Given the description of an element on the screen output the (x, y) to click on. 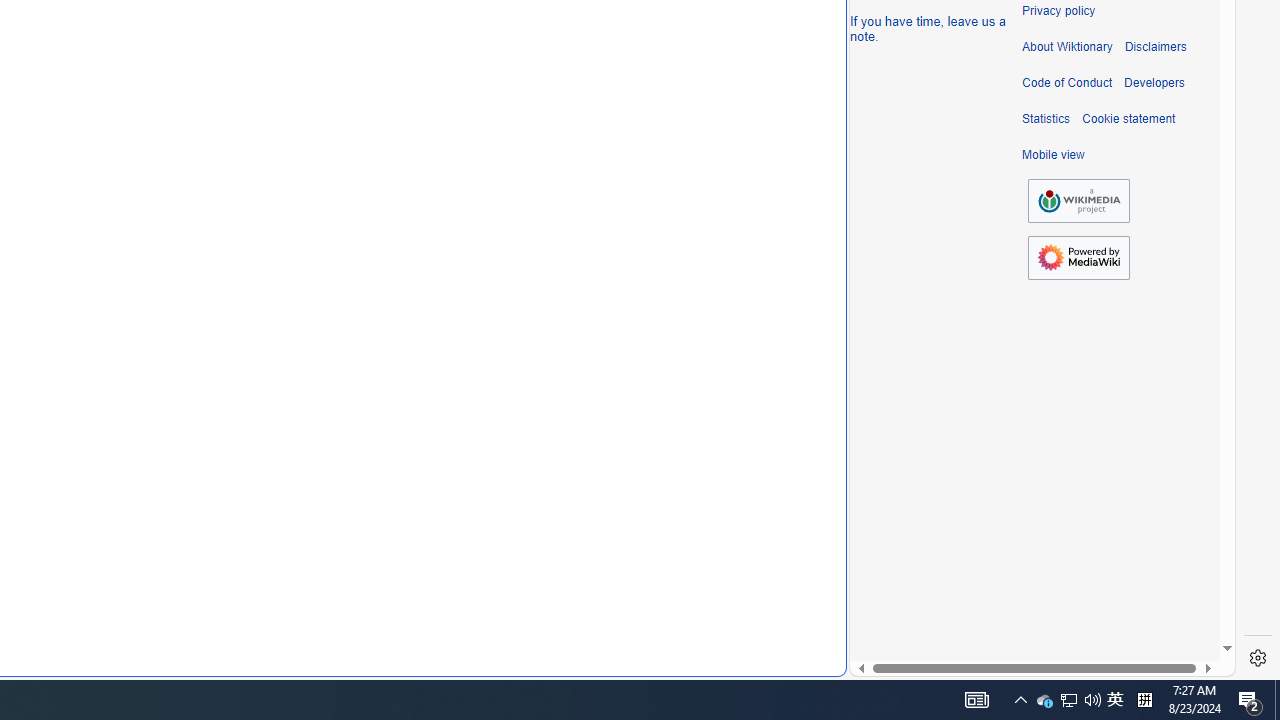
Code of Conduct (1067, 83)
Developers (1154, 83)
Powered by MediaWiki (1078, 257)
Disclaimers (1154, 47)
Cookie statement (1128, 119)
Disclaimers (1154, 47)
Wikimedia Foundation (1078, 201)
Privacy policy (1058, 11)
